Given the description of an element on the screen output the (x, y) to click on. 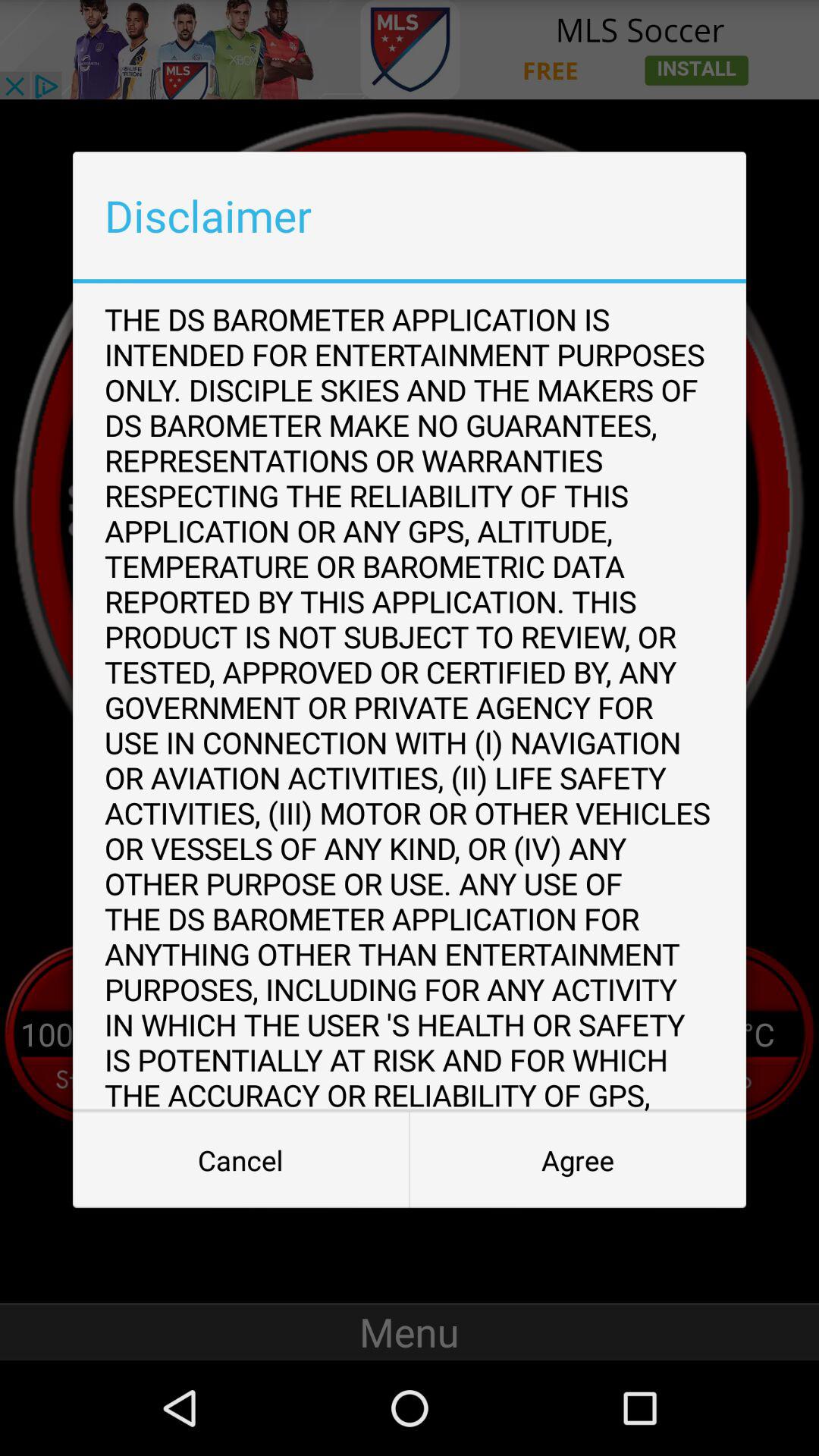
scroll until the agree button (578, 1160)
